Given the description of an element on the screen output the (x, y) to click on. 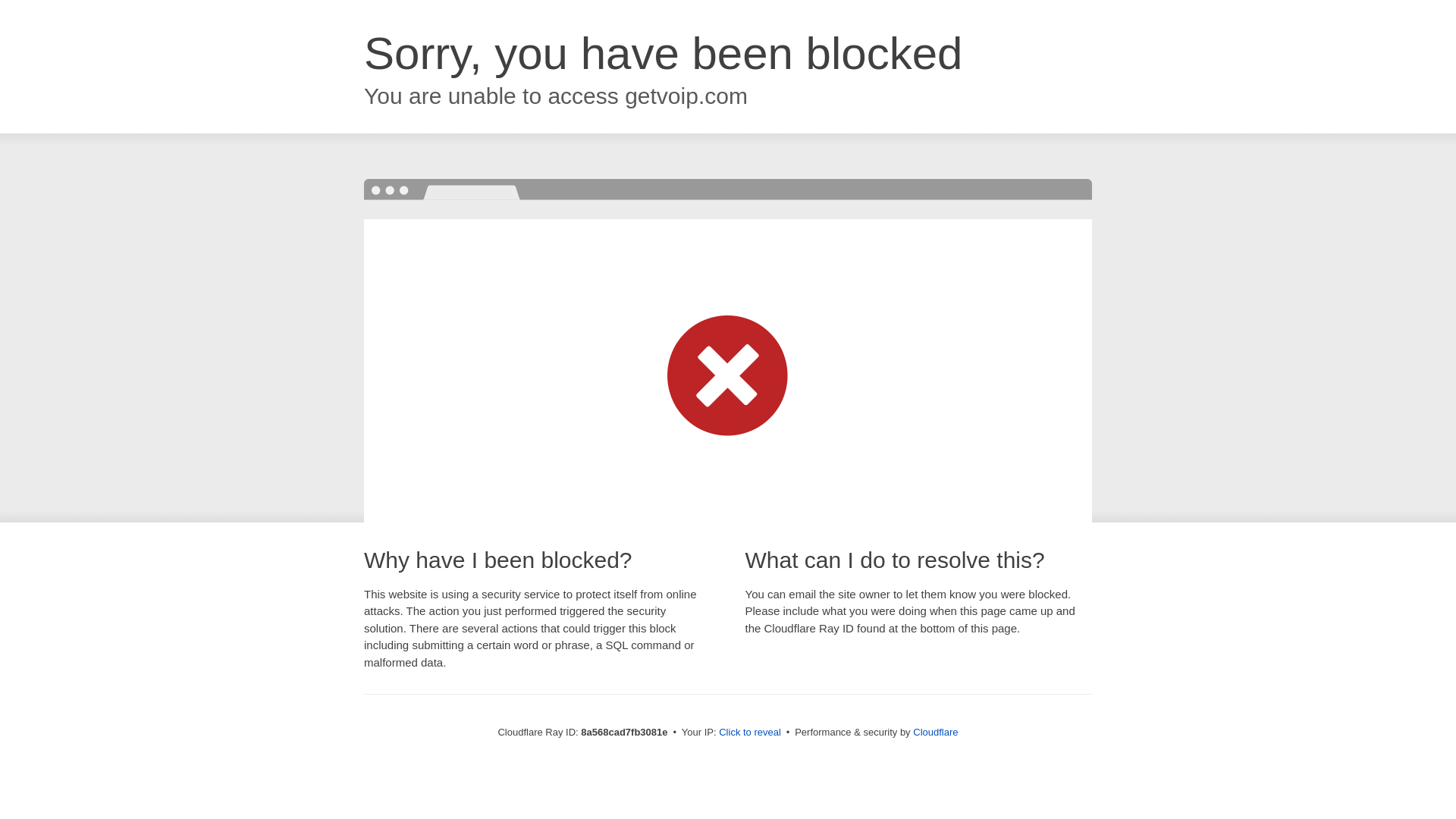
Click to reveal (749, 732)
Cloudflare (935, 731)
